Given the description of an element on the screen output the (x, y) to click on. 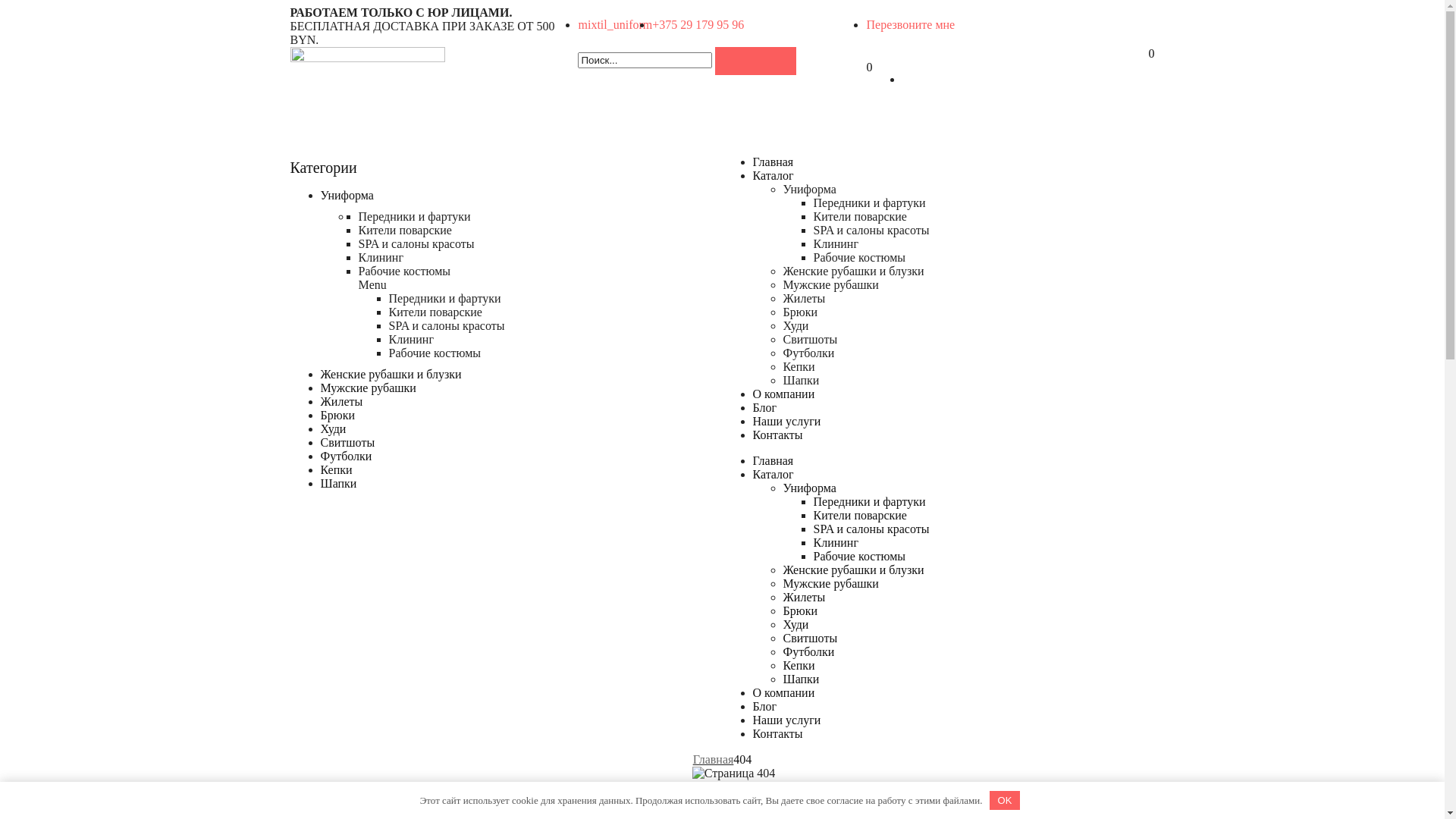
mixtil_uniform Element type: text (614, 24)
+375 29 179 95 96 Element type: text (697, 24)
0 Element type: text (869, 79)
0 Element type: text (1151, 53)
OK Element type: text (1004, 799)
